Given the description of an element on the screen output the (x, y) to click on. 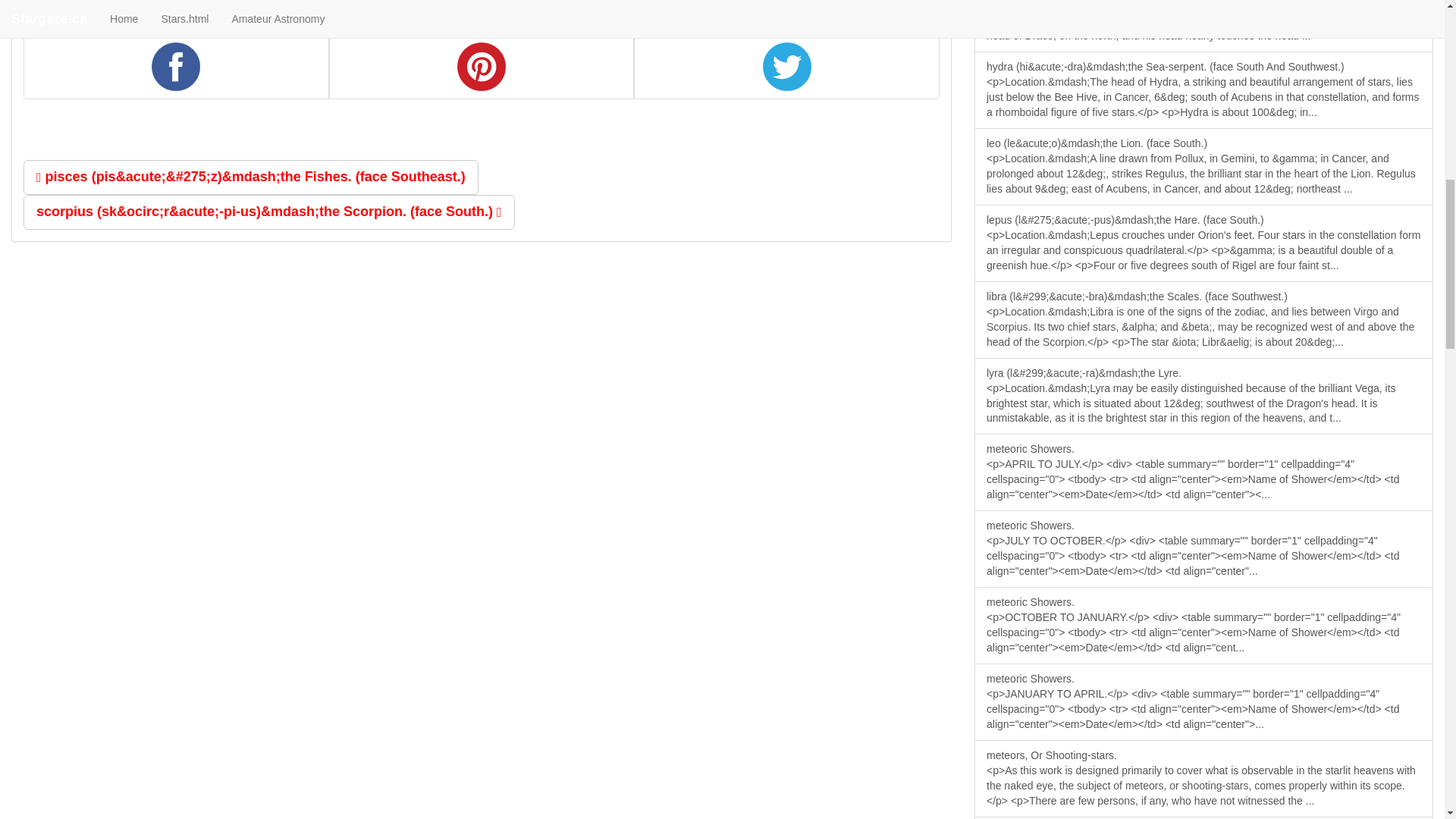
Advertisement (136, 2)
